Given the description of an element on the screen output the (x, y) to click on. 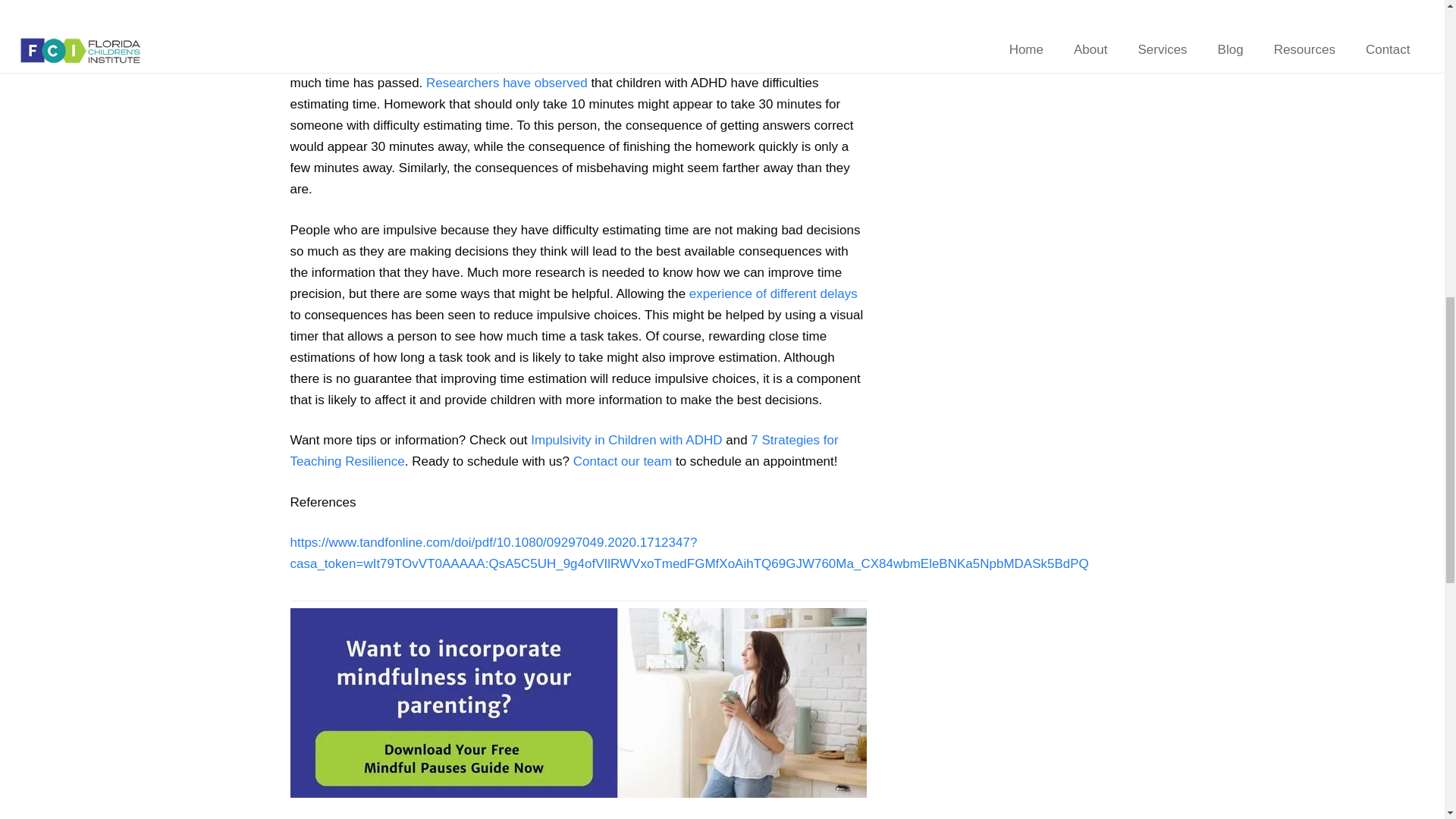
Researchers have observed (507, 83)
experience of different delays (772, 293)
Contact our team (622, 461)
Impulsivity in Children with ADHD (626, 440)
Back to top (1413, 34)
7 Strategies for Teaching Resilience (563, 450)
